Given the description of an element on the screen output the (x, y) to click on. 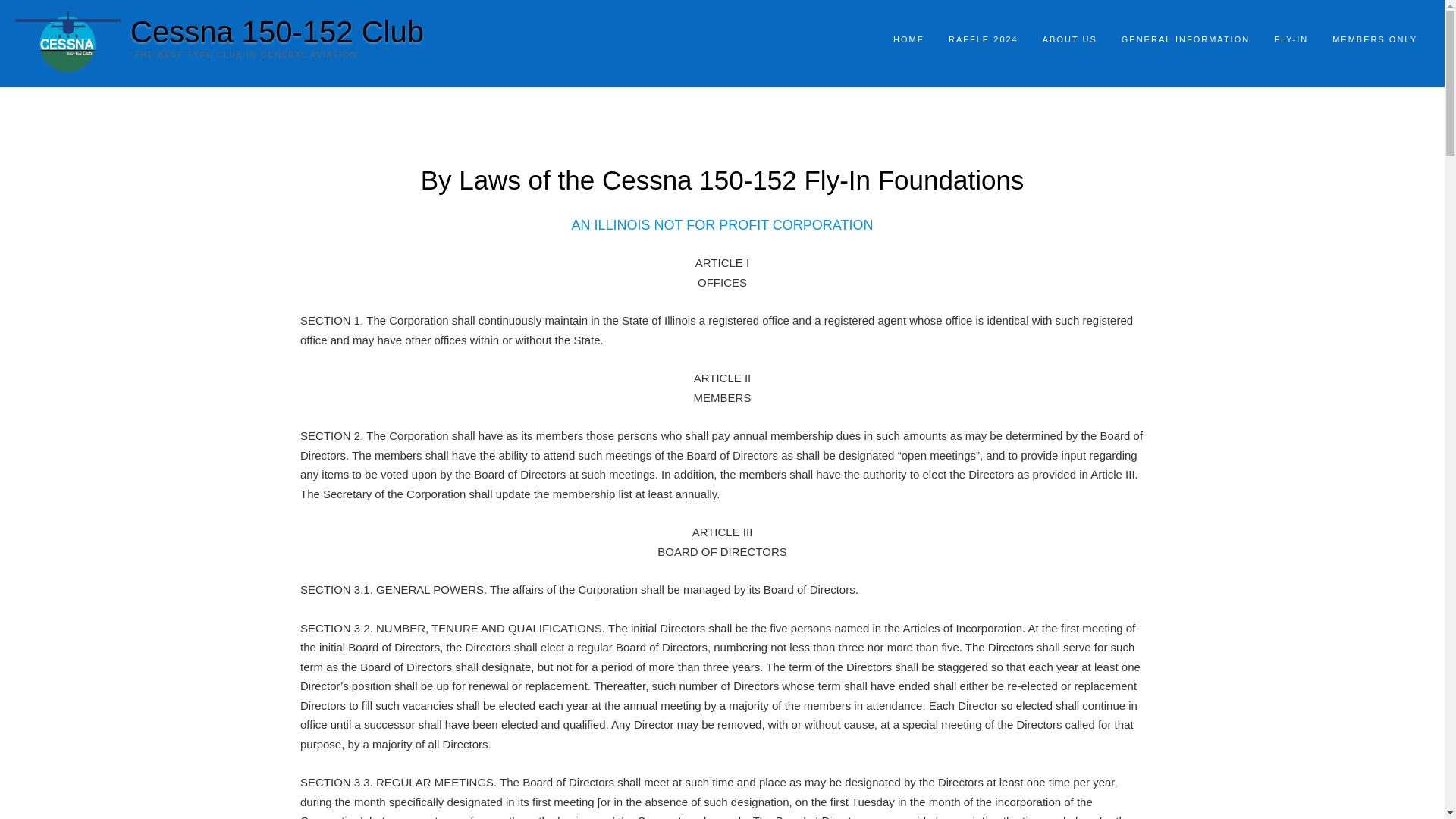
RAFFLE 2024 (983, 40)
GENERAL INFORMATION (1185, 40)
Cessna 150-152 Club (277, 31)
Cessna 150-152 Club (277, 31)
ABOUT US (1069, 40)
